Given the description of an element on the screen output the (x, y) to click on. 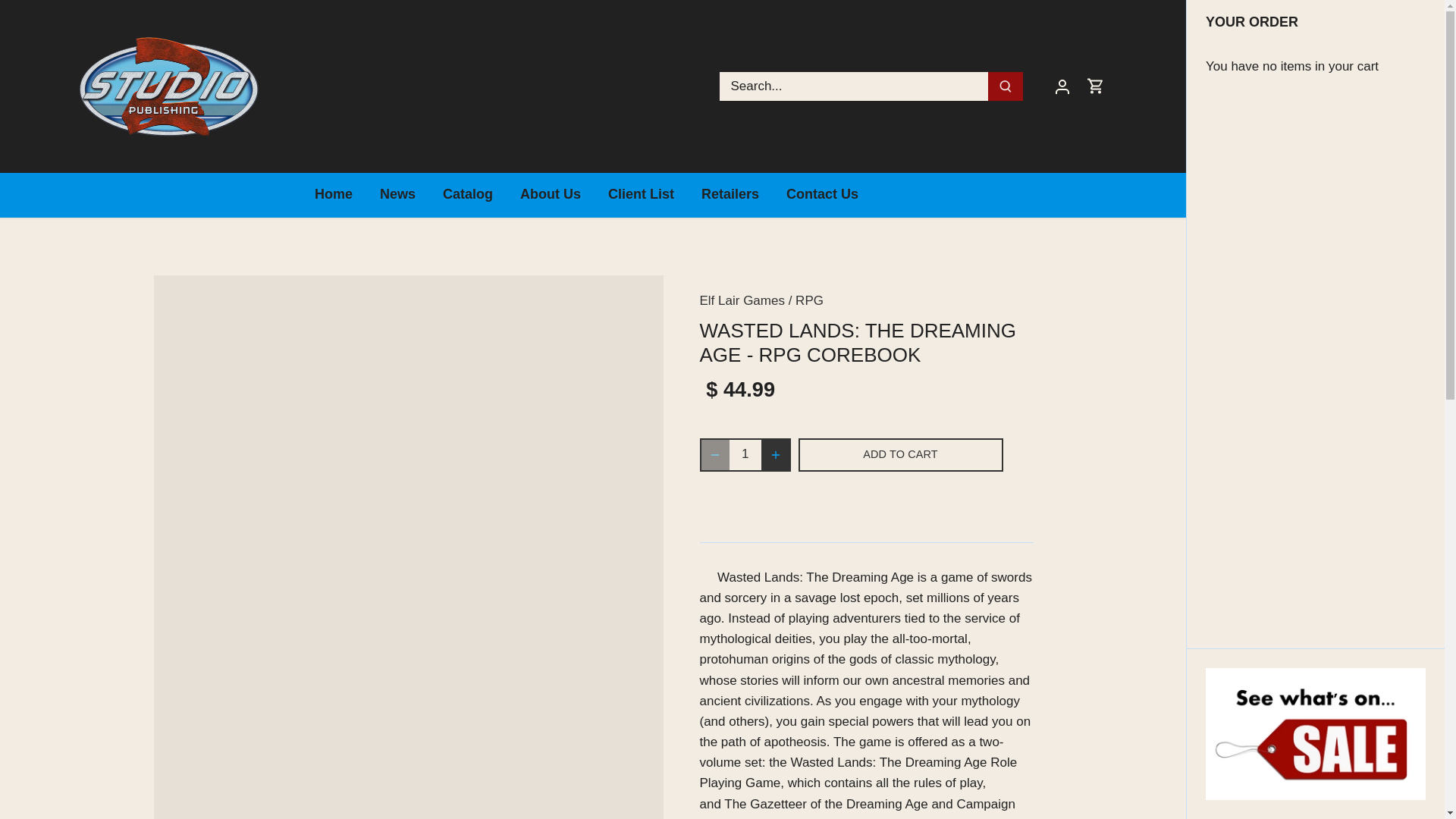
Retailers (730, 194)
ADD TO CART (900, 454)
1 (745, 454)
Contact Us (822, 194)
Client List (640, 194)
Home (340, 194)
RPG (809, 300)
Elf Lair Games (741, 300)
News (397, 194)
About Us (550, 194)
